Given the description of an element on the screen output the (x, y) to click on. 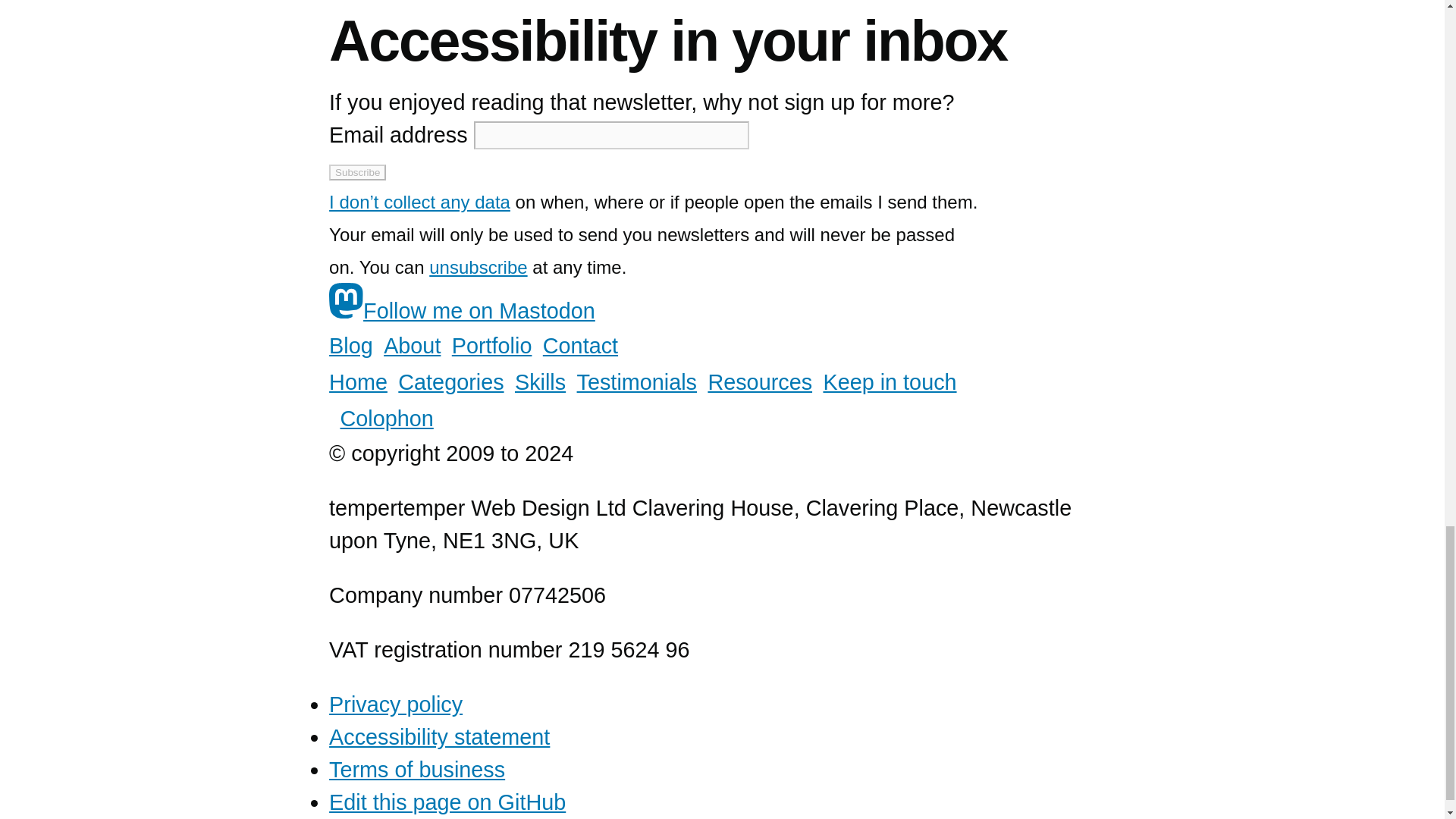
Skills (540, 382)
Resources (759, 382)
Edit this page on GitHub (447, 802)
About (412, 346)
Portfolio (491, 346)
unsubscribe (478, 264)
Keep in touch (889, 382)
Terms of business (417, 769)
Privacy policy (396, 704)
Accessibility statement (439, 736)
Contact (580, 346)
Testimonials (636, 382)
Colophon (385, 419)
Blog (350, 346)
Home (358, 382)
